Given the description of an element on the screen output the (x, y) to click on. 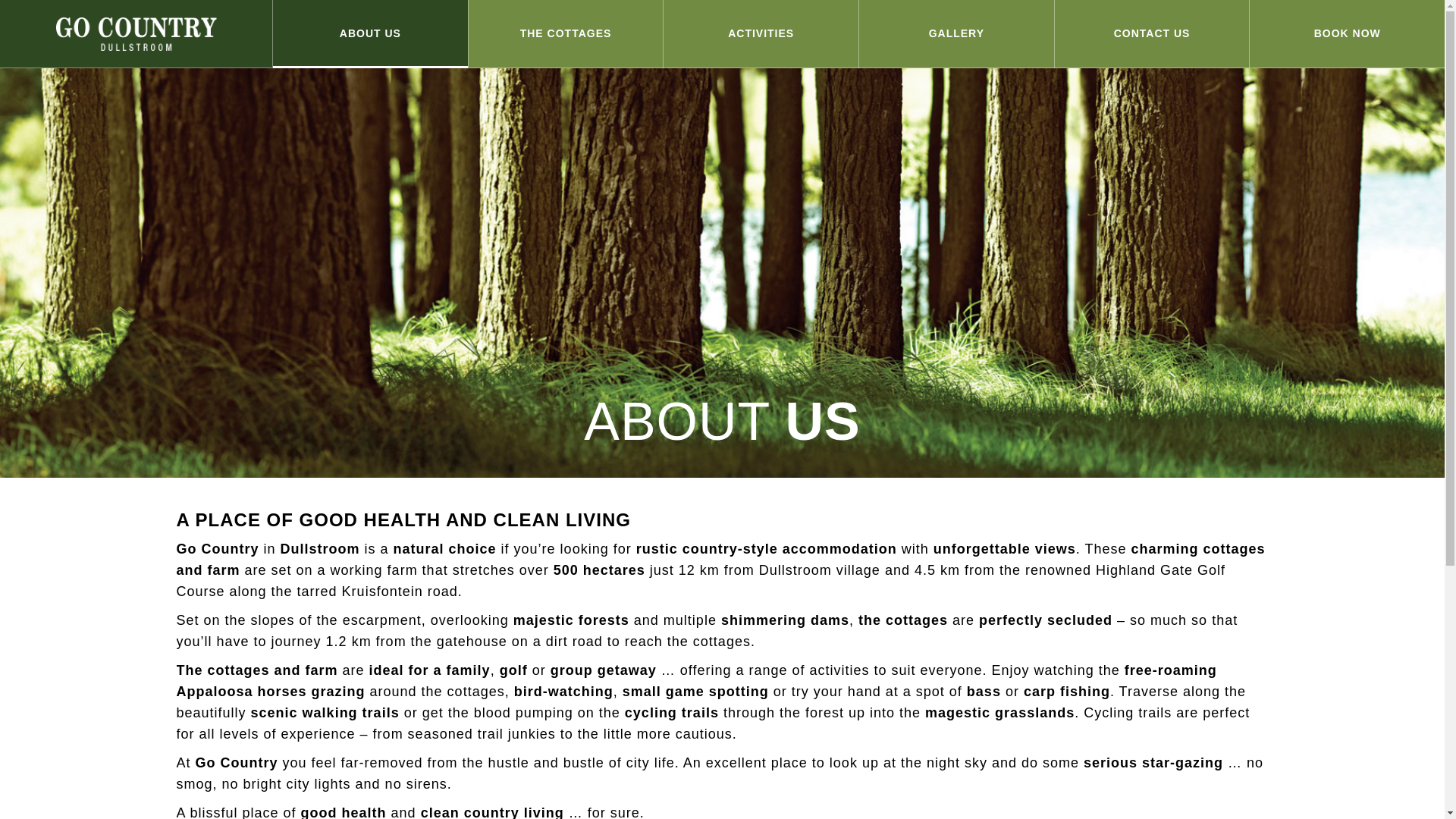
ACTIVITIES (761, 33)
GALLERY (956, 33)
CONTACT US (1151, 33)
ABOUT US (370, 33)
THE COTTAGES (565, 33)
